Given the description of an element on the screen output the (x, y) to click on. 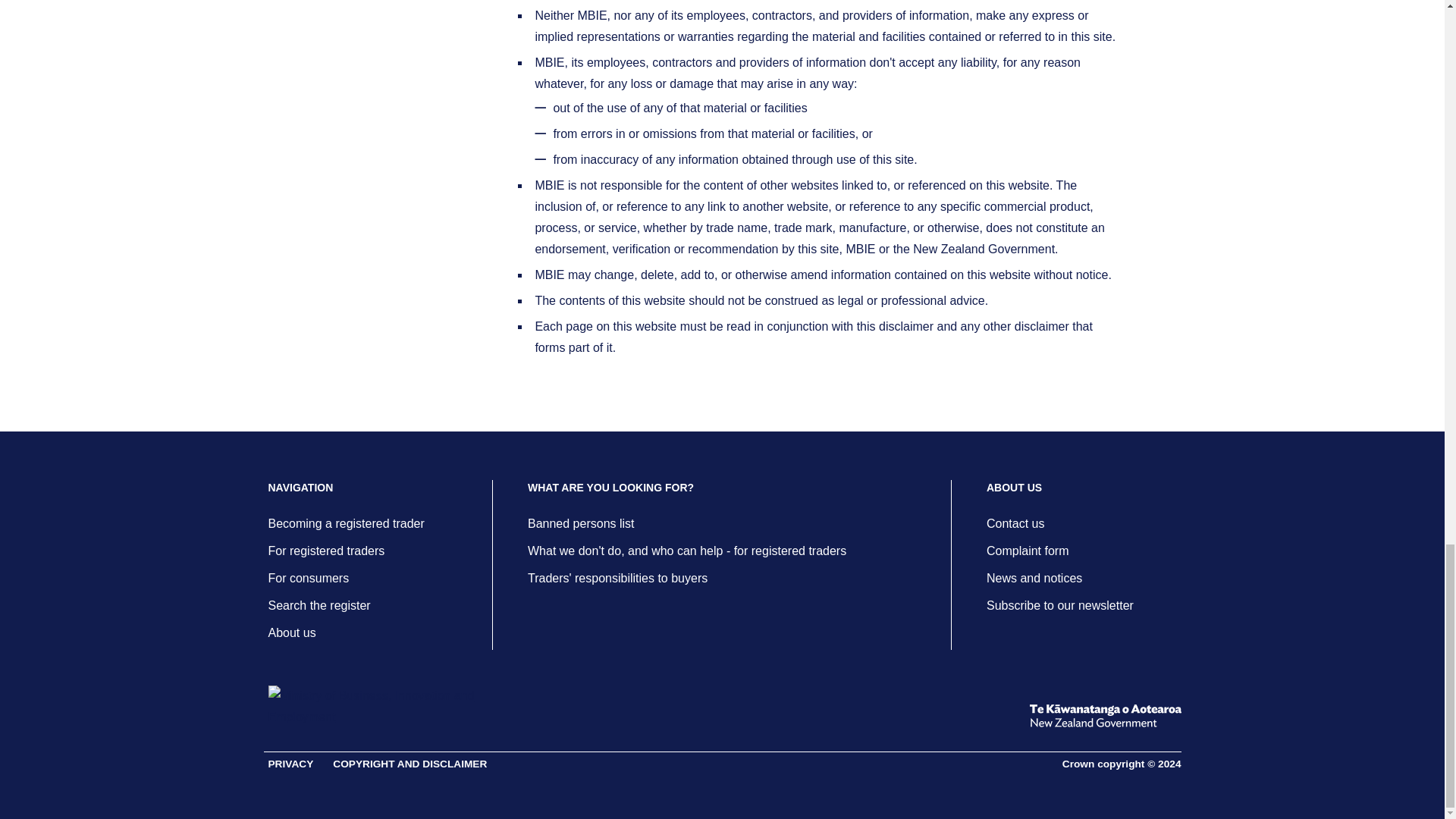
Ministry of Business, Innovation and Employment (373, 706)
